Given the description of an element on the screen output the (x, y) to click on. 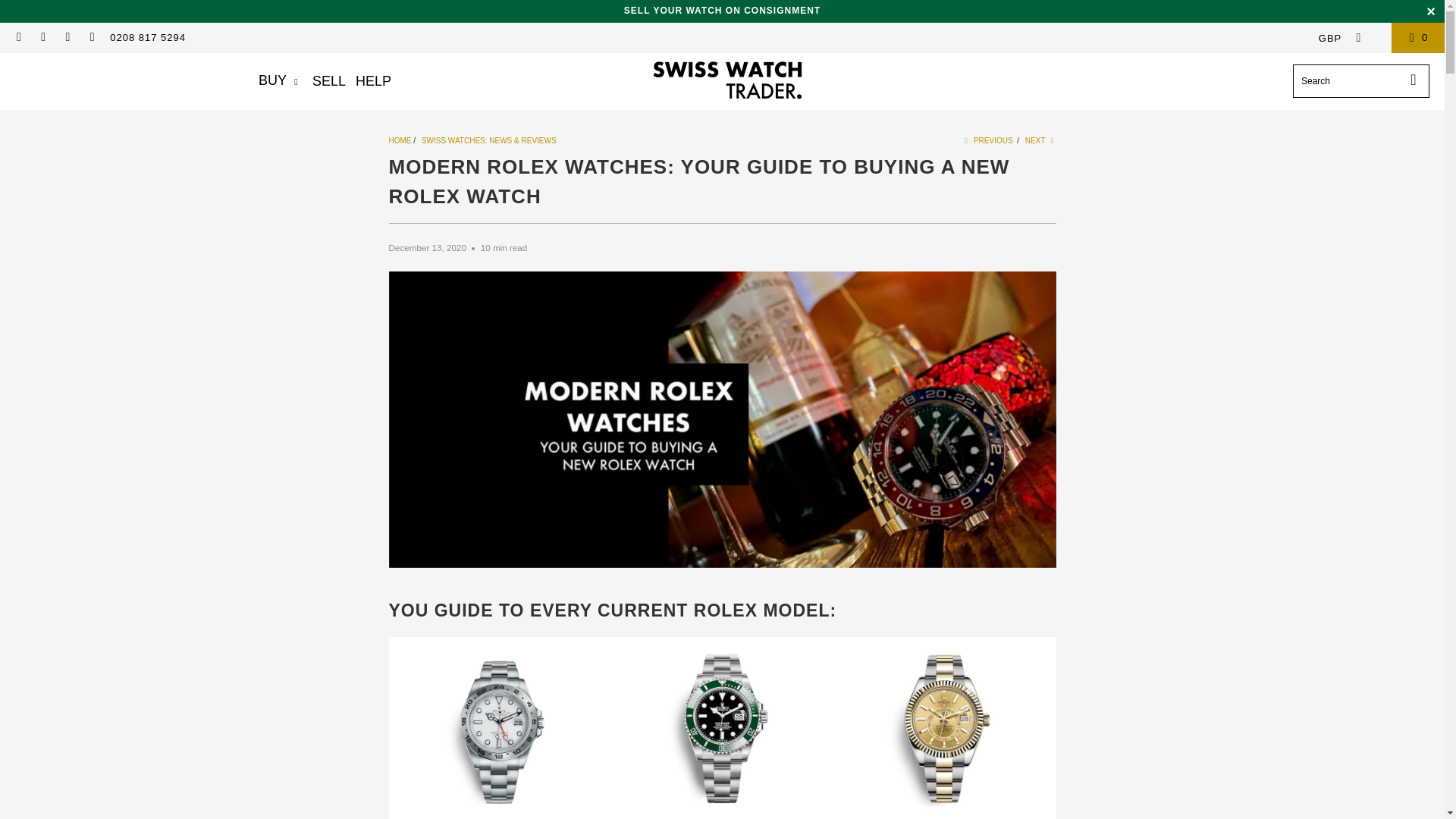
Swiss Watch Trader  on Facebook (41, 37)
Swiss Watch Trader  (727, 81)
Swiss Watch Trader  on Instagram (67, 37)
Email Swiss Watch Trader  (17, 37)
SELL YOUR WATCH (722, 9)
Swiss Watch Trader  (399, 140)
Swiss Watch Trader  on YouTube (91, 37)
